Given the description of an element on the screen output the (x, y) to click on. 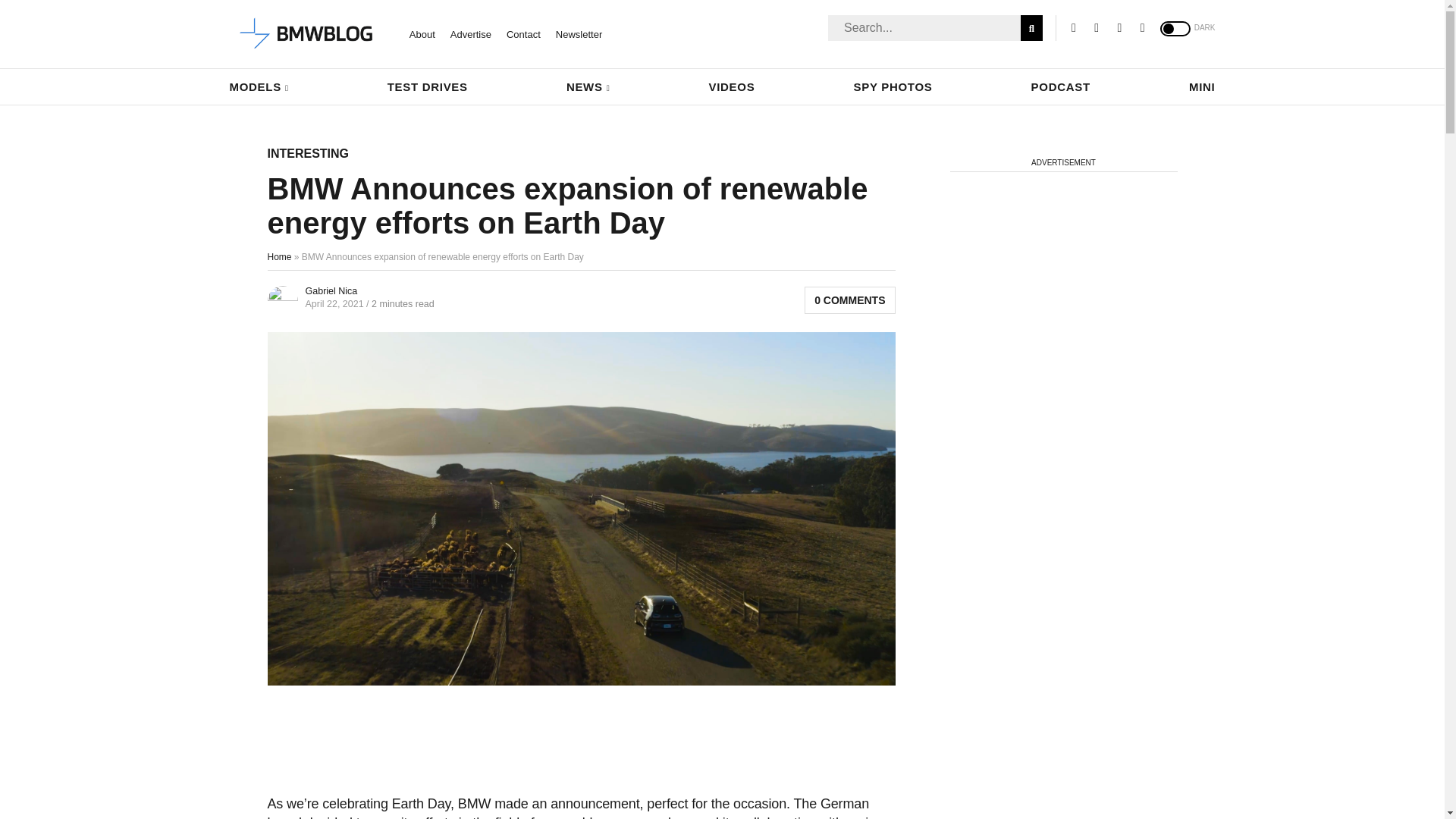
About (422, 34)
BMW BLOG (306, 34)
Contact (523, 34)
Advertise (470, 34)
Gabriel Nica (330, 290)
MODELS (258, 86)
Newsletter (579, 34)
